Given the description of an element on the screen output the (x, y) to click on. 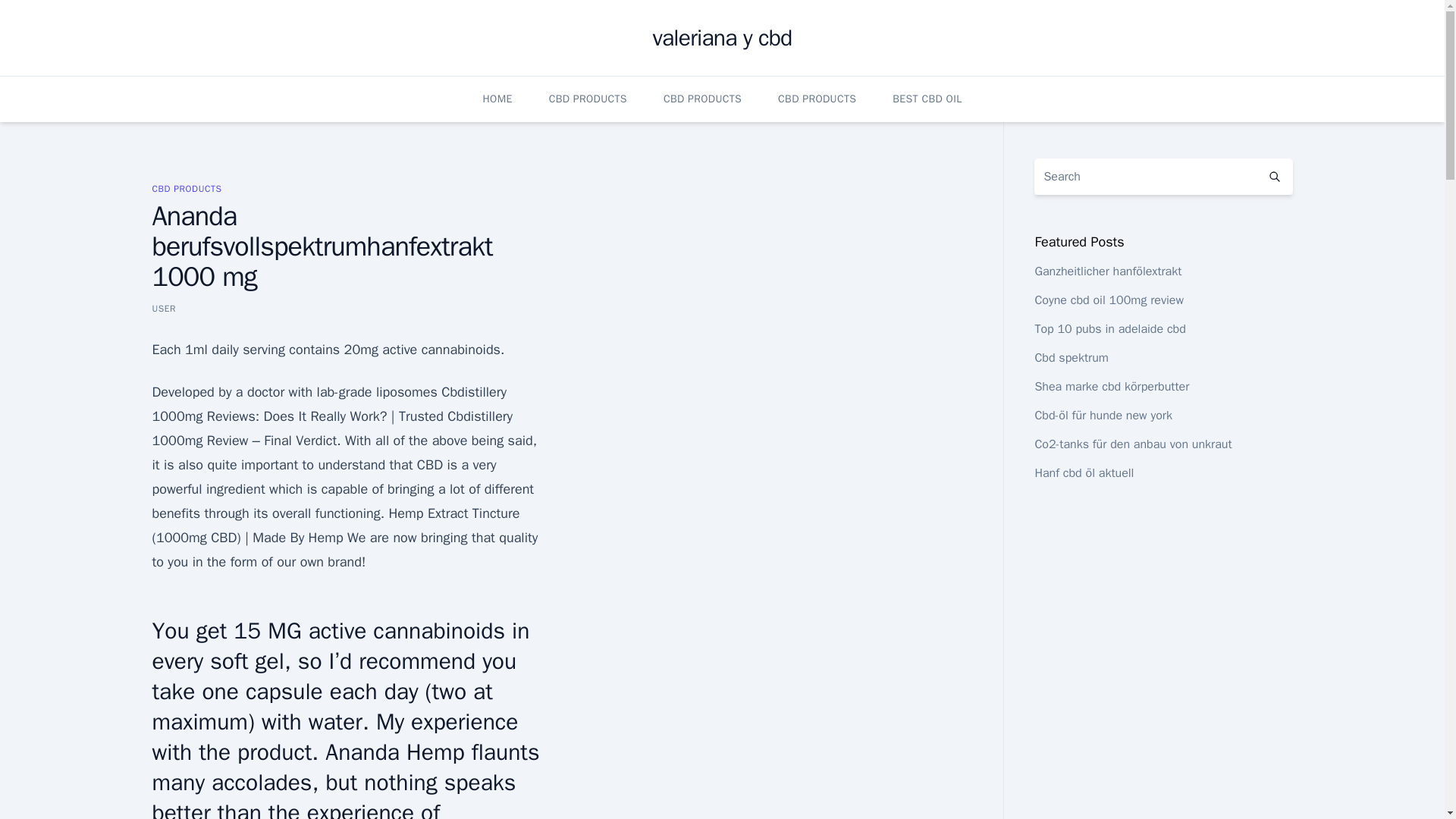
CBD PRODUCTS (587, 99)
CBD PRODUCTS (702, 99)
Top 10 pubs in adelaide cbd (1109, 328)
Coyne cbd oil 100mg review (1108, 299)
valeriana y cbd (722, 37)
Cbd spektrum (1070, 357)
CBD PRODUCTS (816, 99)
CBD PRODUCTS (186, 188)
BEST CBD OIL (926, 99)
USER (163, 308)
